Given the description of an element on the screen output the (x, y) to click on. 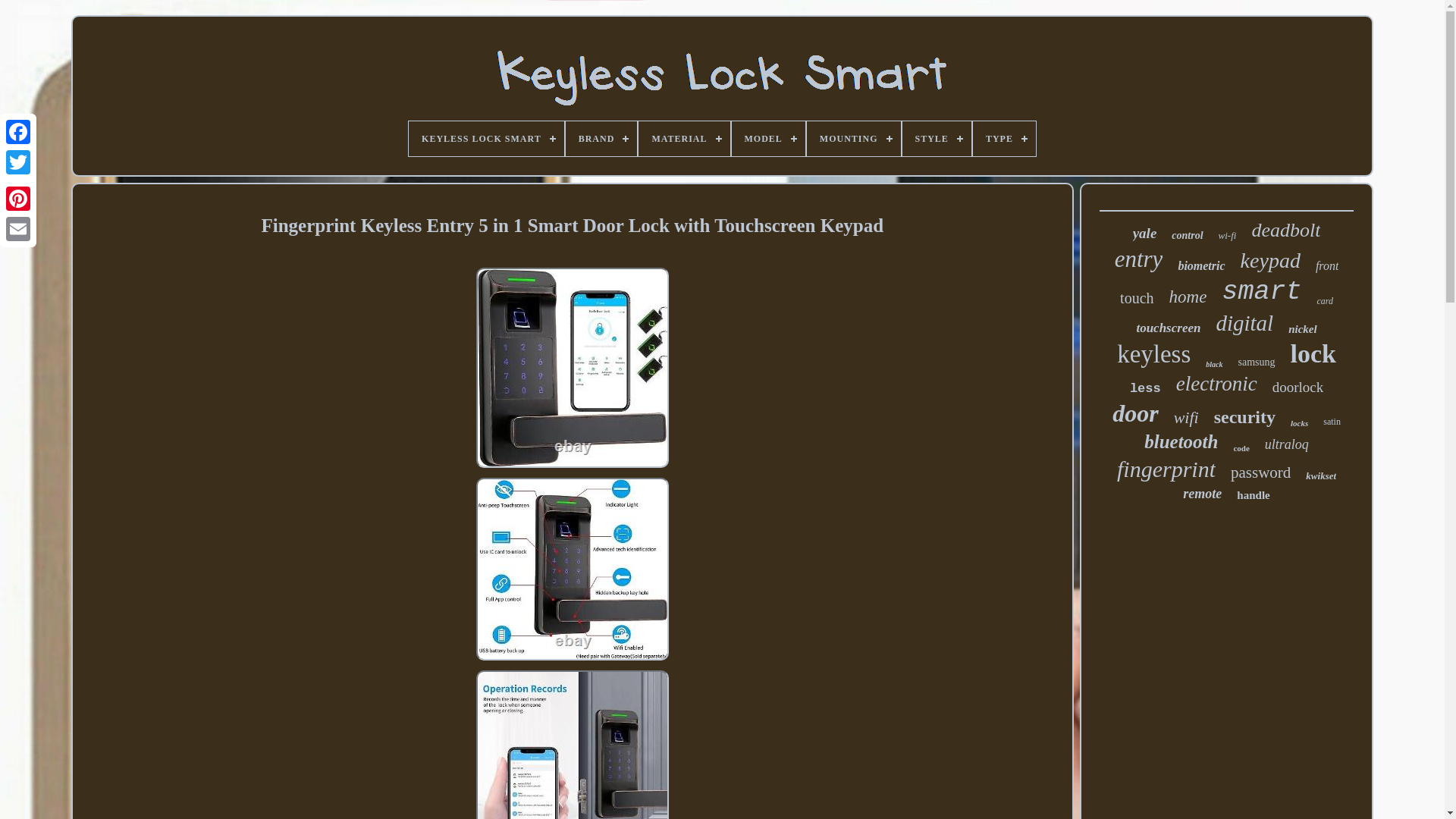
BRAND (601, 138)
KEYLESS LOCK SMART (486, 138)
MATERIAL (684, 138)
